Given the description of an element on the screen output the (x, y) to click on. 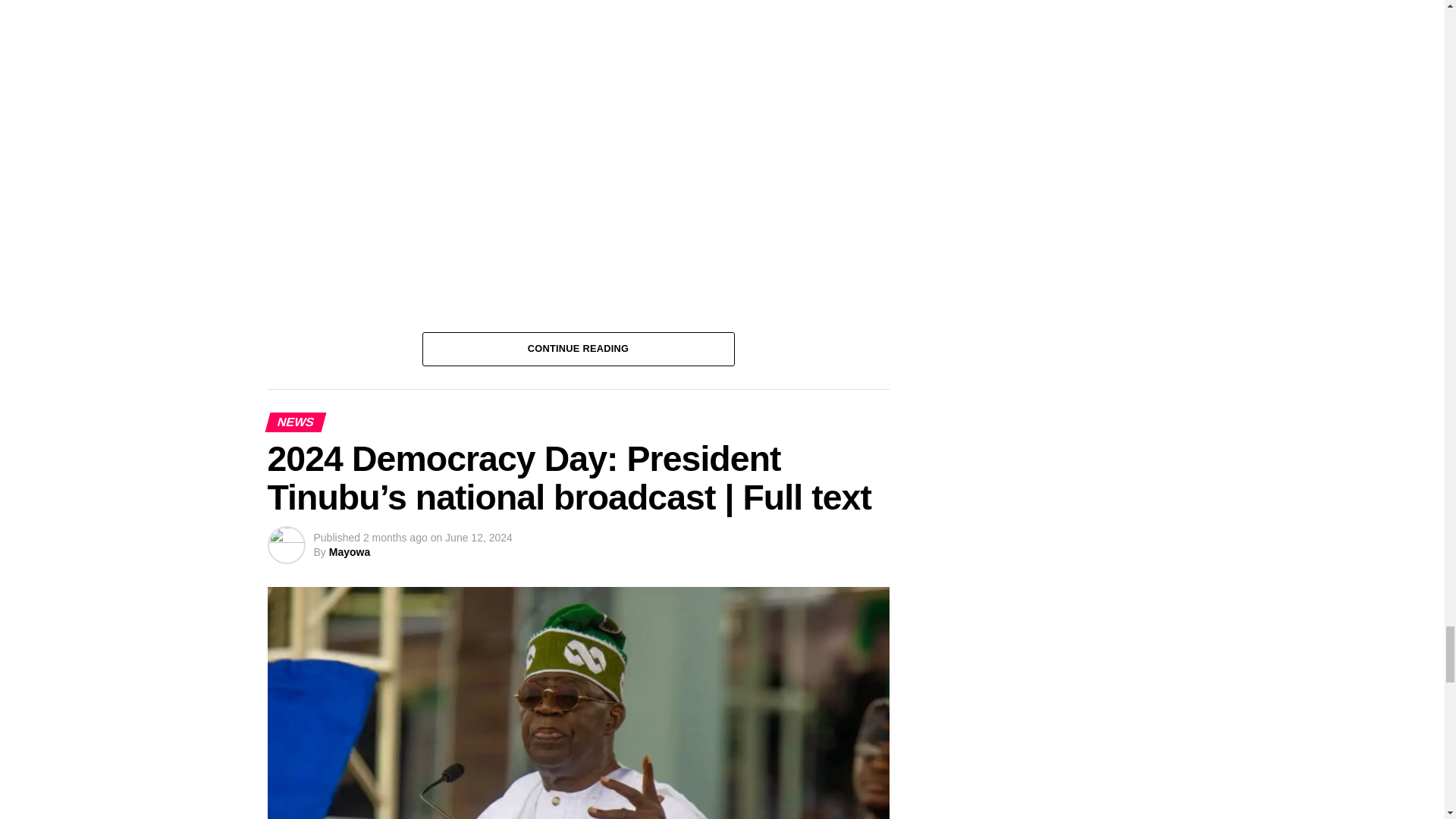
Mayowa (349, 551)
Posts by Mayowa (349, 551)
CONTINUE READING (577, 347)
